Given the description of an element on the screen output the (x, y) to click on. 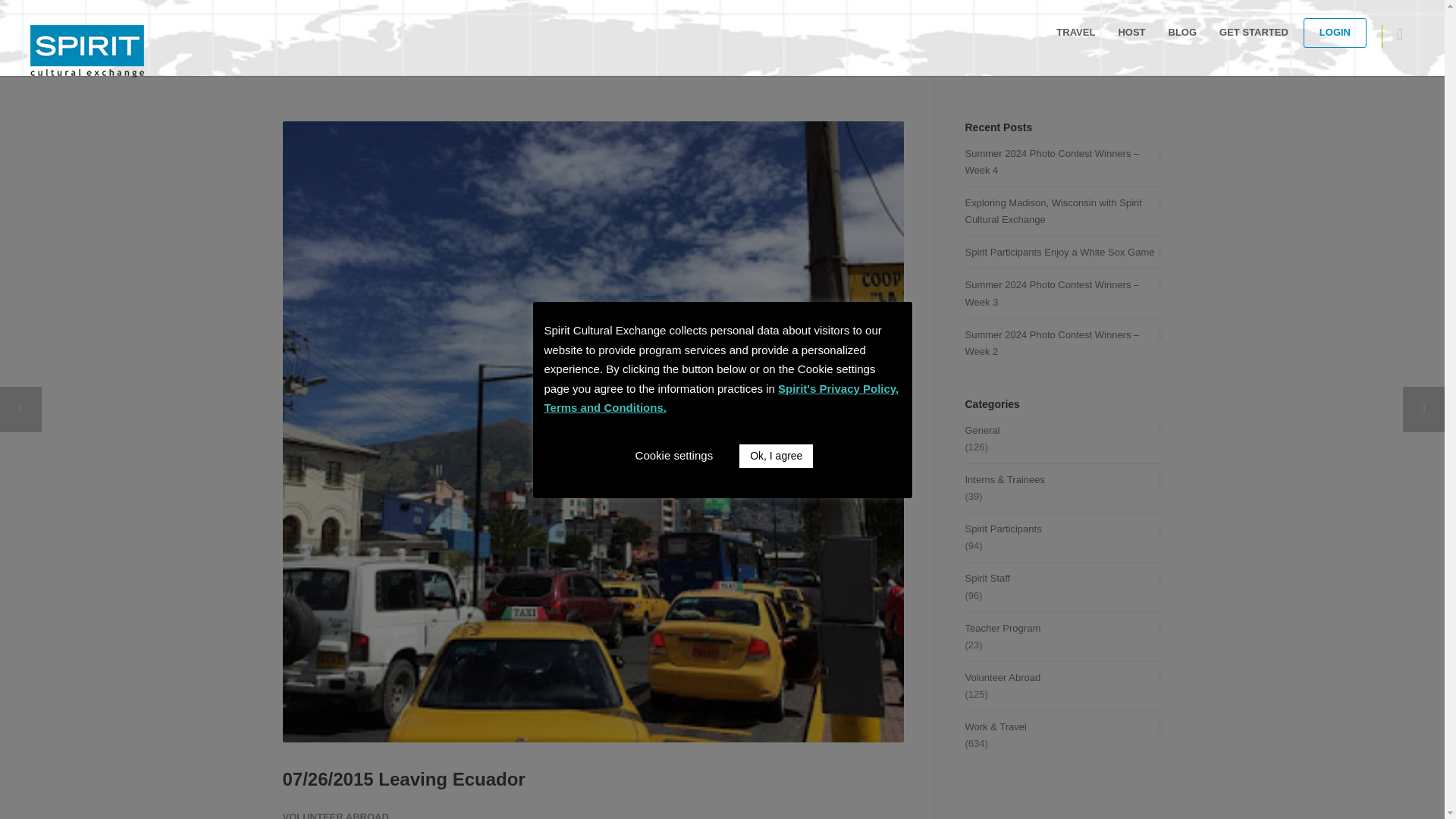
HOST (1131, 32)
LOGIN (1335, 32)
BLOG (1182, 32)
GET STARTED (1254, 32)
TRAVEL (1075, 32)
